Given the description of an element on the screen output the (x, y) to click on. 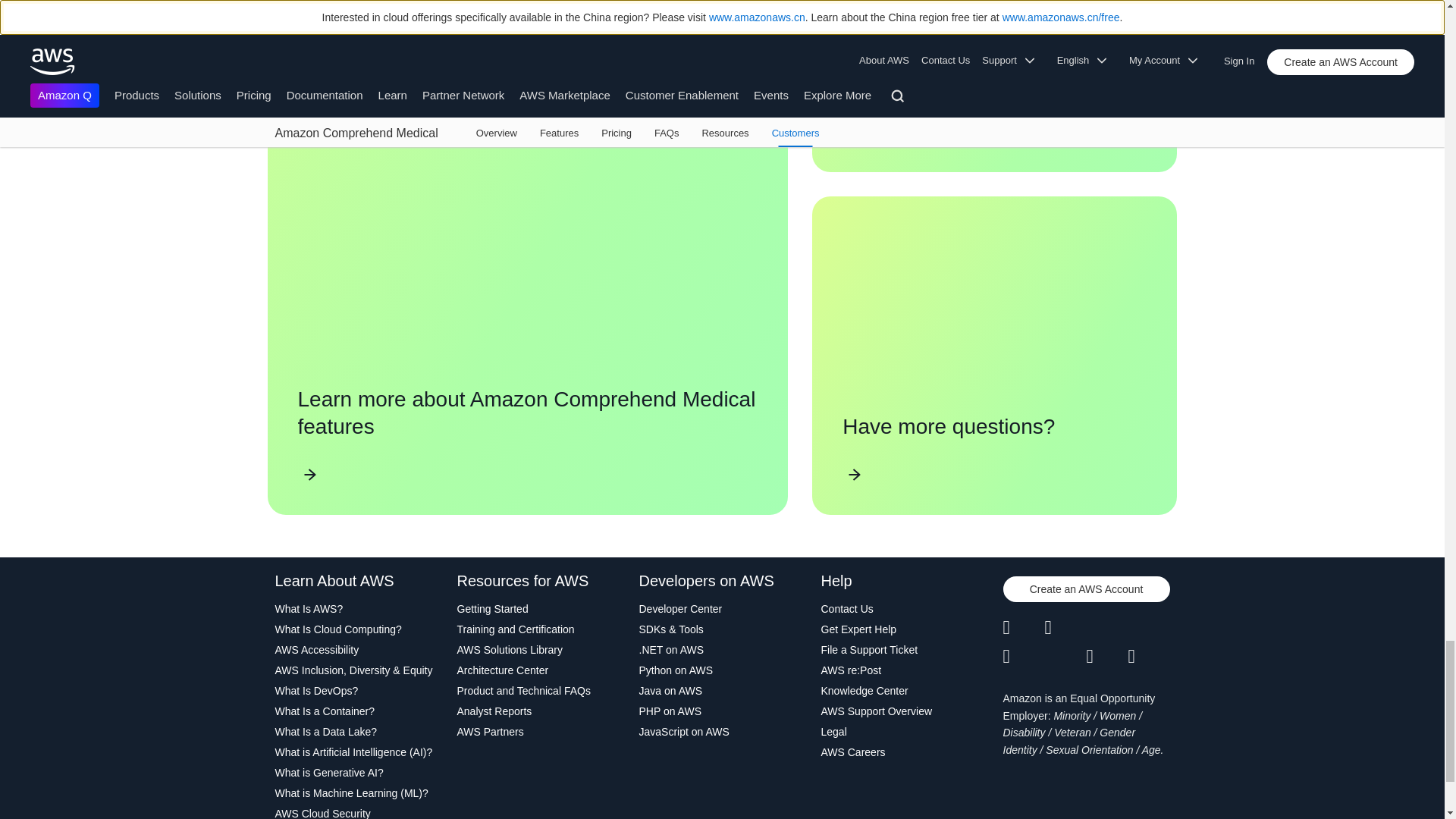
Linkedin (1106, 627)
Podcast (1106, 656)
Instagram (1149, 627)
YouTube (1065, 656)
Twitter (1023, 627)
Facebook (1065, 627)
Twitch (1023, 656)
